Given the description of an element on the screen output the (x, y) to click on. 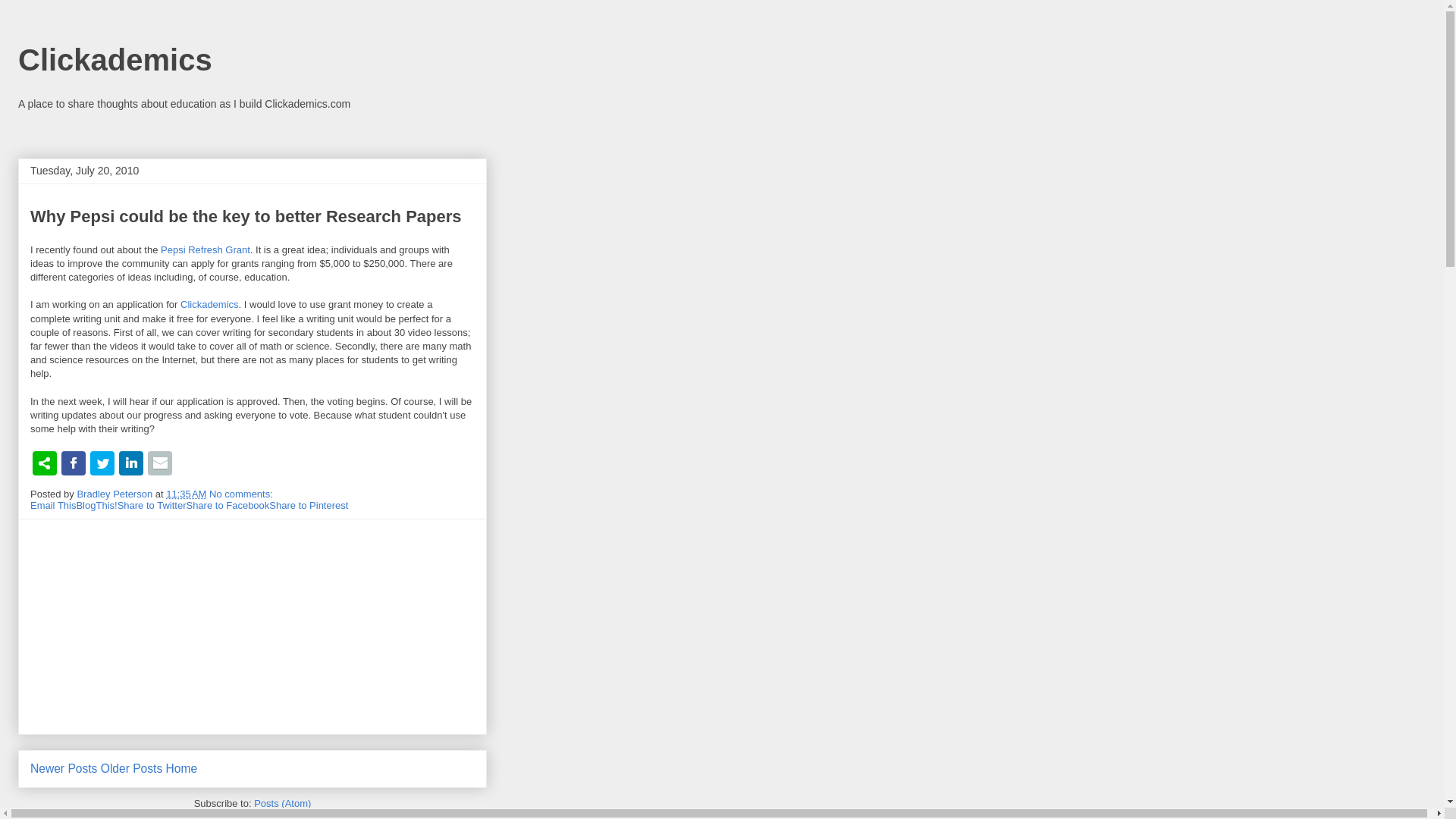
Home (181, 768)
Share to Twitter (151, 505)
BlogThis! (95, 505)
Share to Facebook (227, 505)
permanent link (185, 493)
author profile (115, 493)
Share to Pinterest (308, 505)
Share to Twitter (151, 505)
Newer Posts (63, 768)
